Given the description of an element on the screen output the (x, y) to click on. 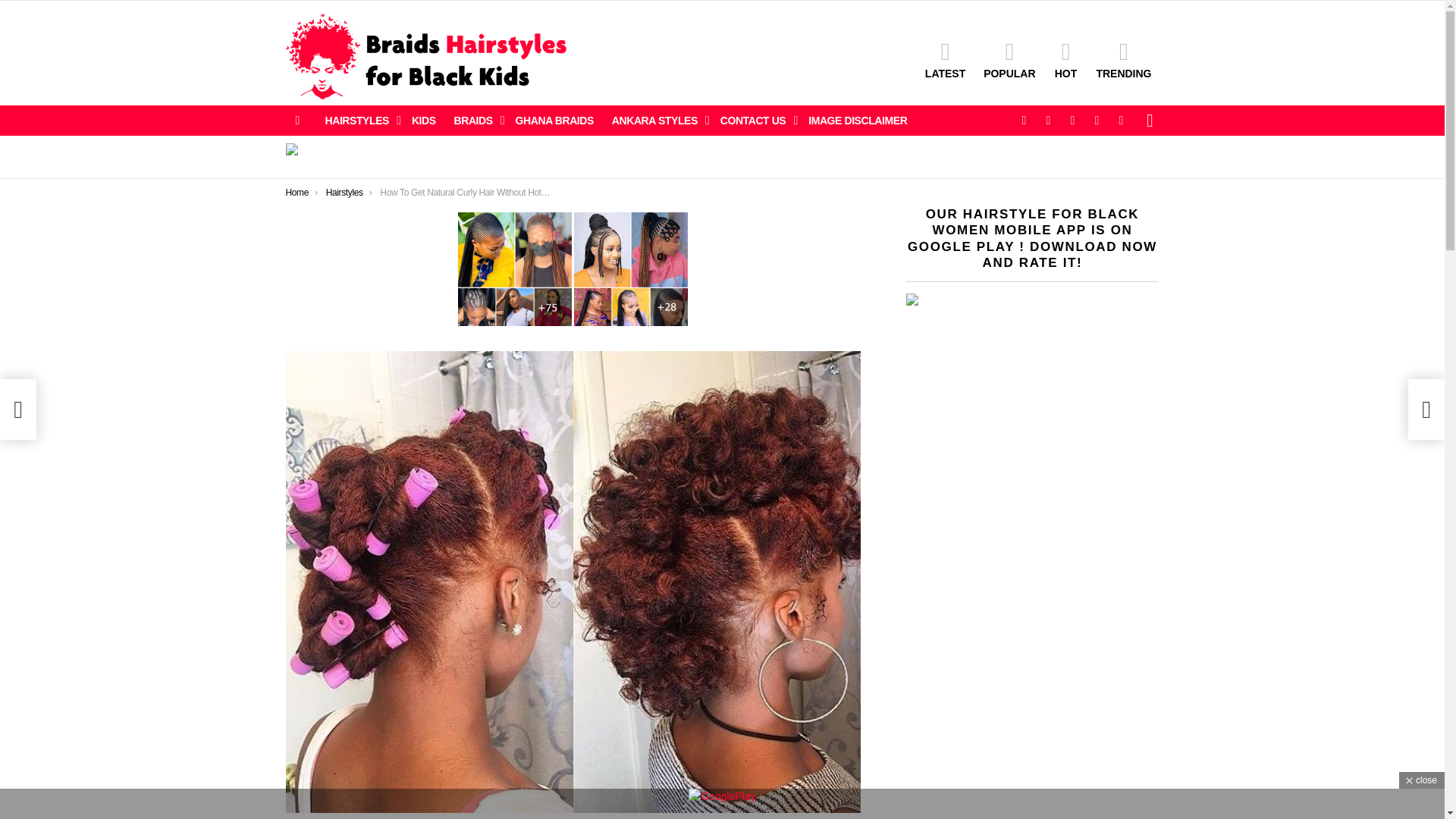
IMAGE DISCLAIMER (857, 119)
BRAIDS (475, 119)
GHANA BRAIDS (554, 119)
ANKARA STYLES (657, 119)
pinterest (1096, 120)
HOT (1064, 59)
KIDS (424, 119)
LATEST (944, 59)
Menu (296, 120)
POPULAR (1008, 59)
